Given the description of an element on the screen output the (x, y) to click on. 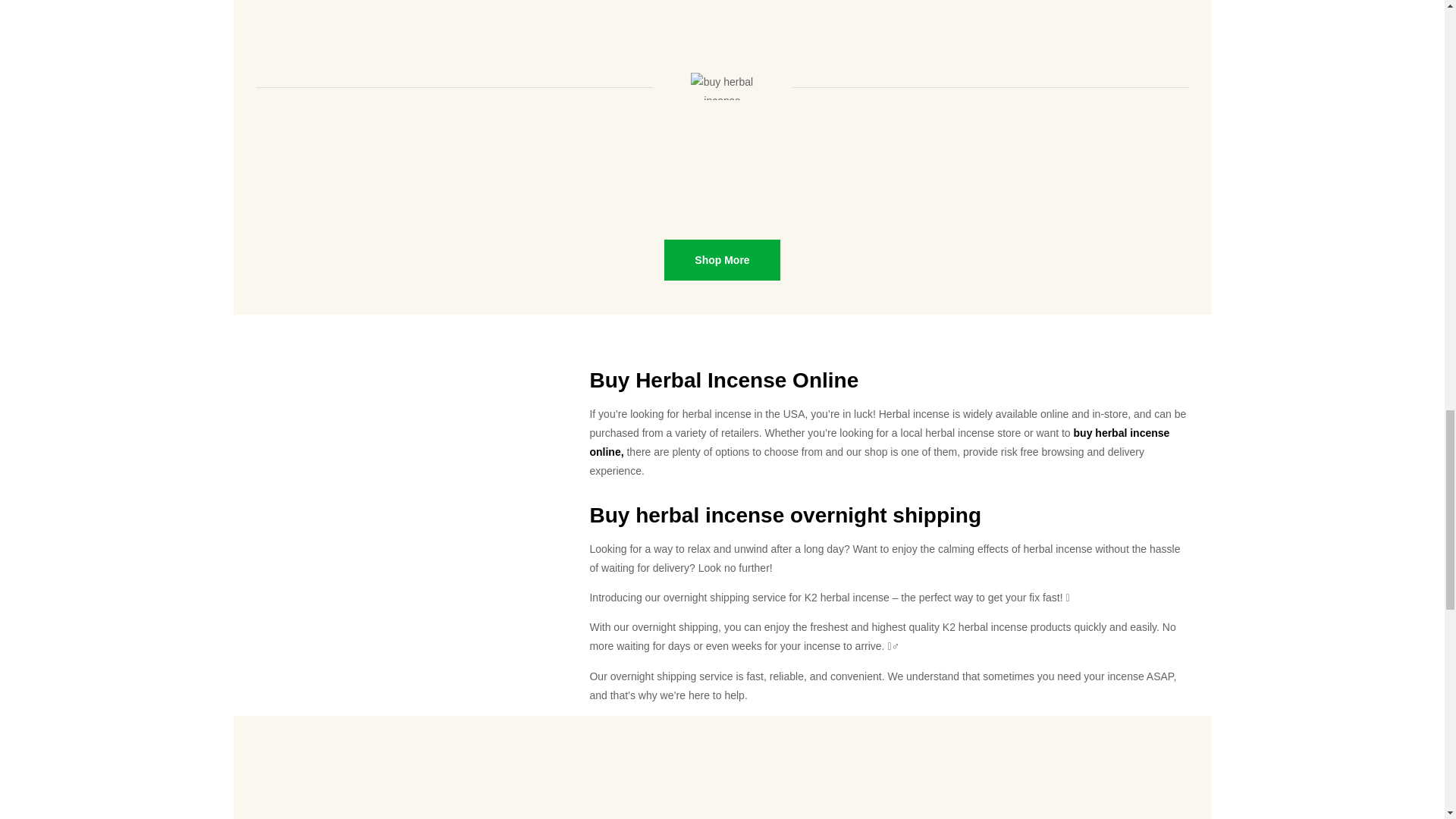
Shop More (720, 259)
herbal incense (709, 515)
buy herbal incense online, (879, 441)
